Given the description of an element on the screen output the (x, y) to click on. 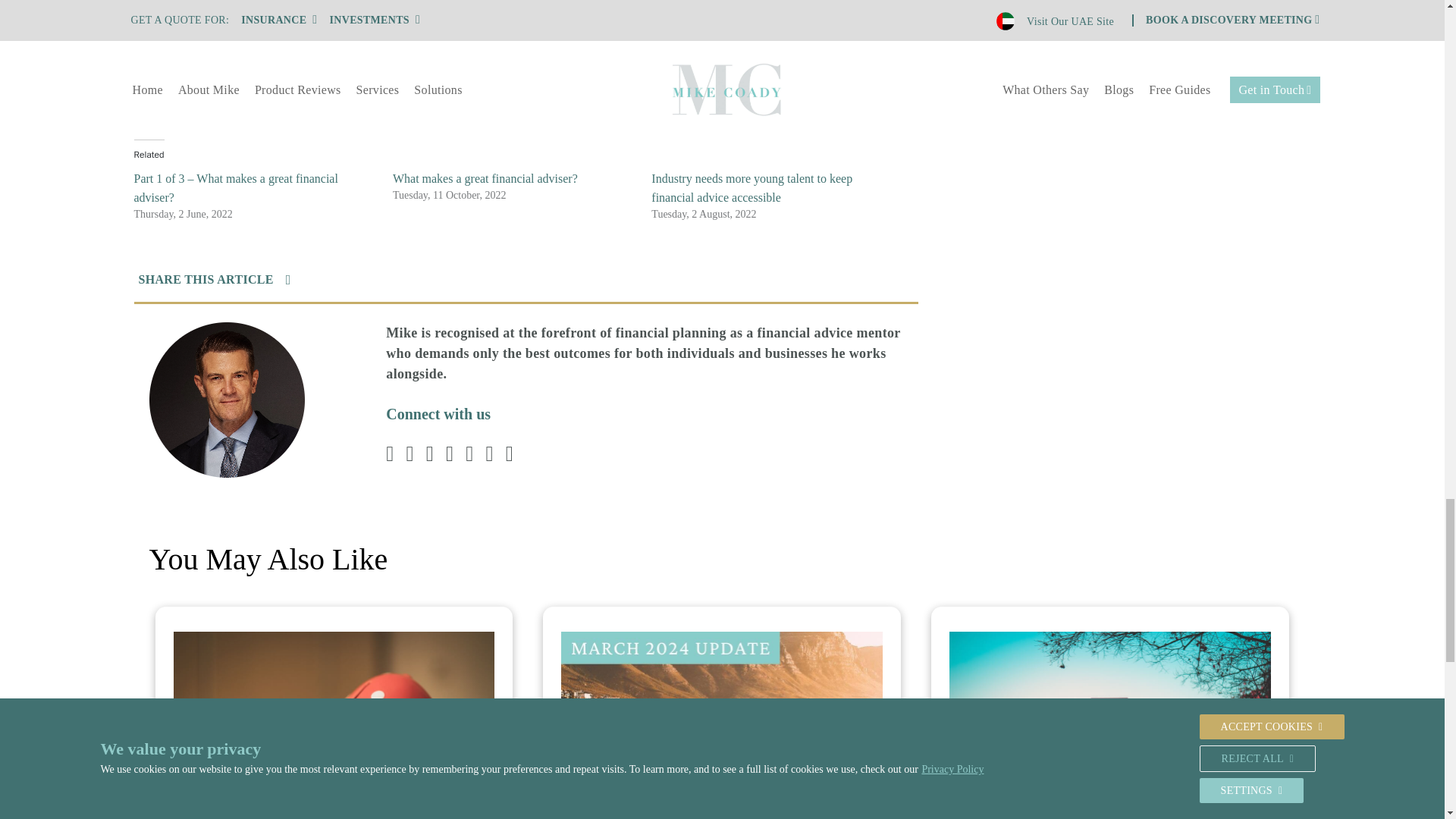
What makes a great financial adviser? (485, 178)
